Given the description of an element on the screen output the (x, y) to click on. 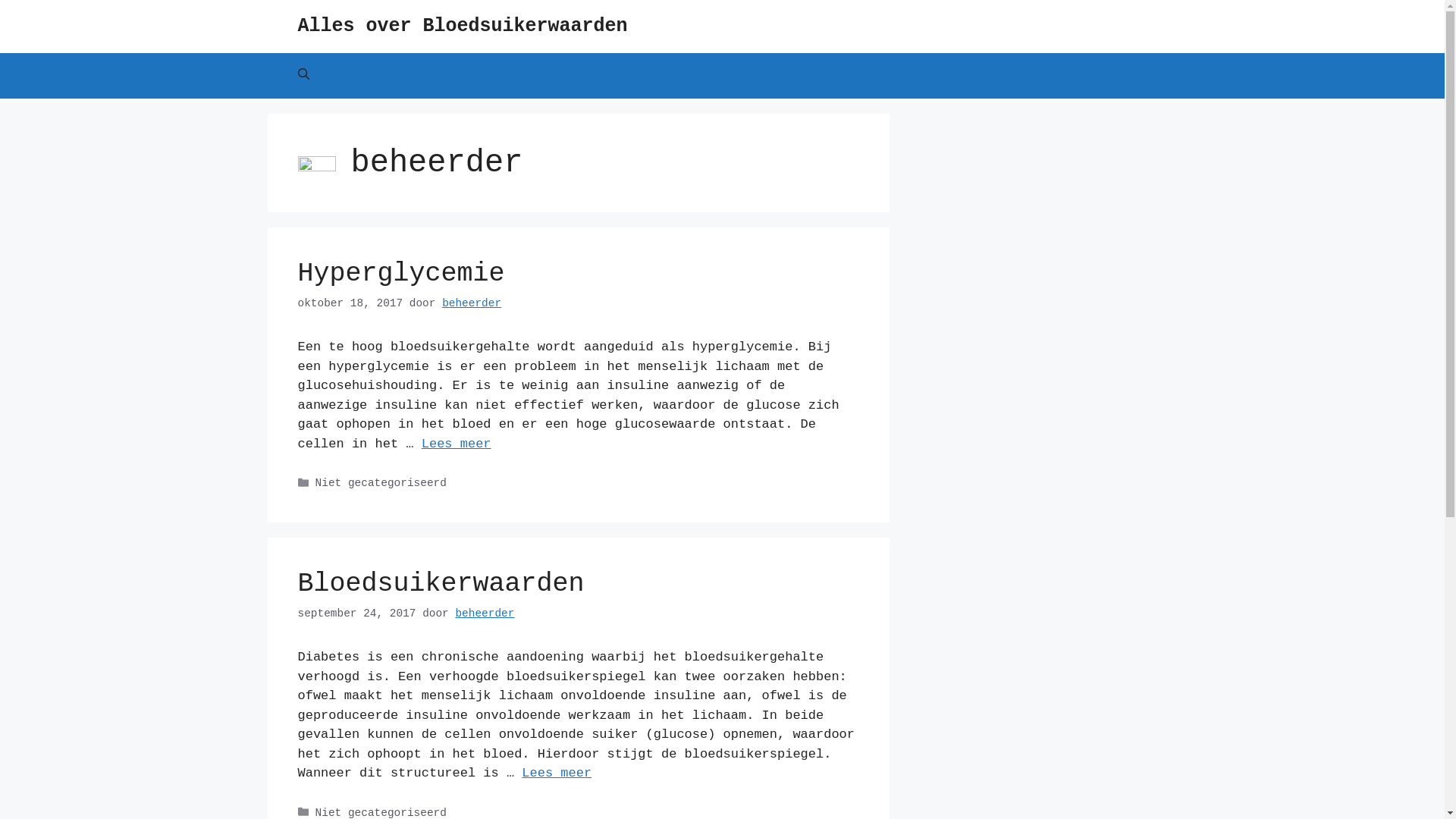
Hyperglycemie Element type: text (400, 273)
Alles over Bloedsuikerwaarden Element type: text (462, 26)
Lees meer Element type: text (456, 443)
beheerder Element type: text (484, 612)
Bloedsuikerwaarden Element type: text (440, 583)
beheerder Element type: text (471, 303)
Lees meer Element type: text (556, 772)
